Given the description of an element on the screen output the (x, y) to click on. 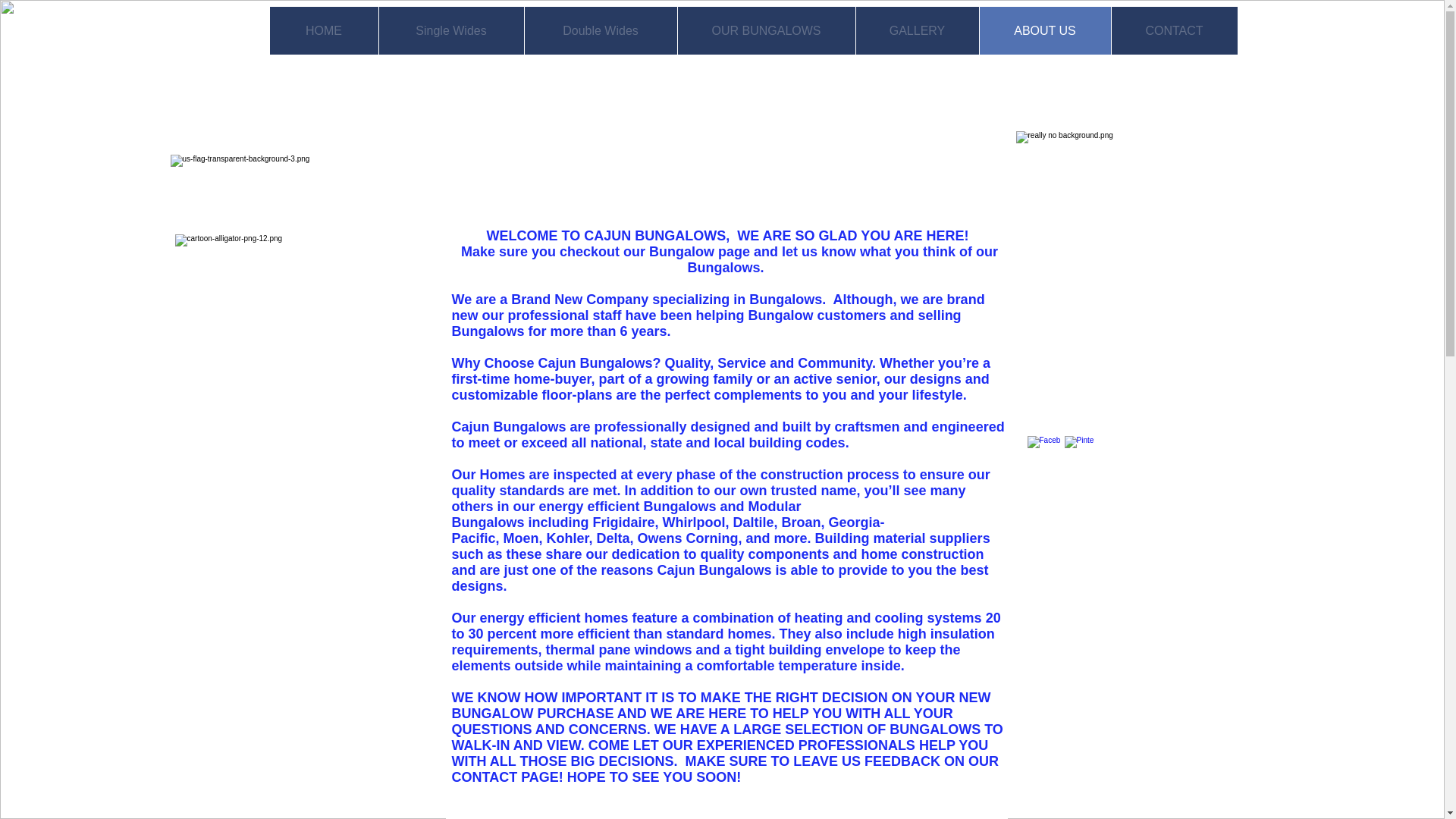
OUR BUNGALOWS (765, 30)
CONTACT (1172, 30)
GALLERY (917, 30)
HOME (323, 30)
ABOUT US (1043, 30)
CAJUN BUNGALOWS (779, 168)
Double Wides (599, 30)
Single Wides (449, 30)
